Given the description of an element on the screen output the (x, y) to click on. 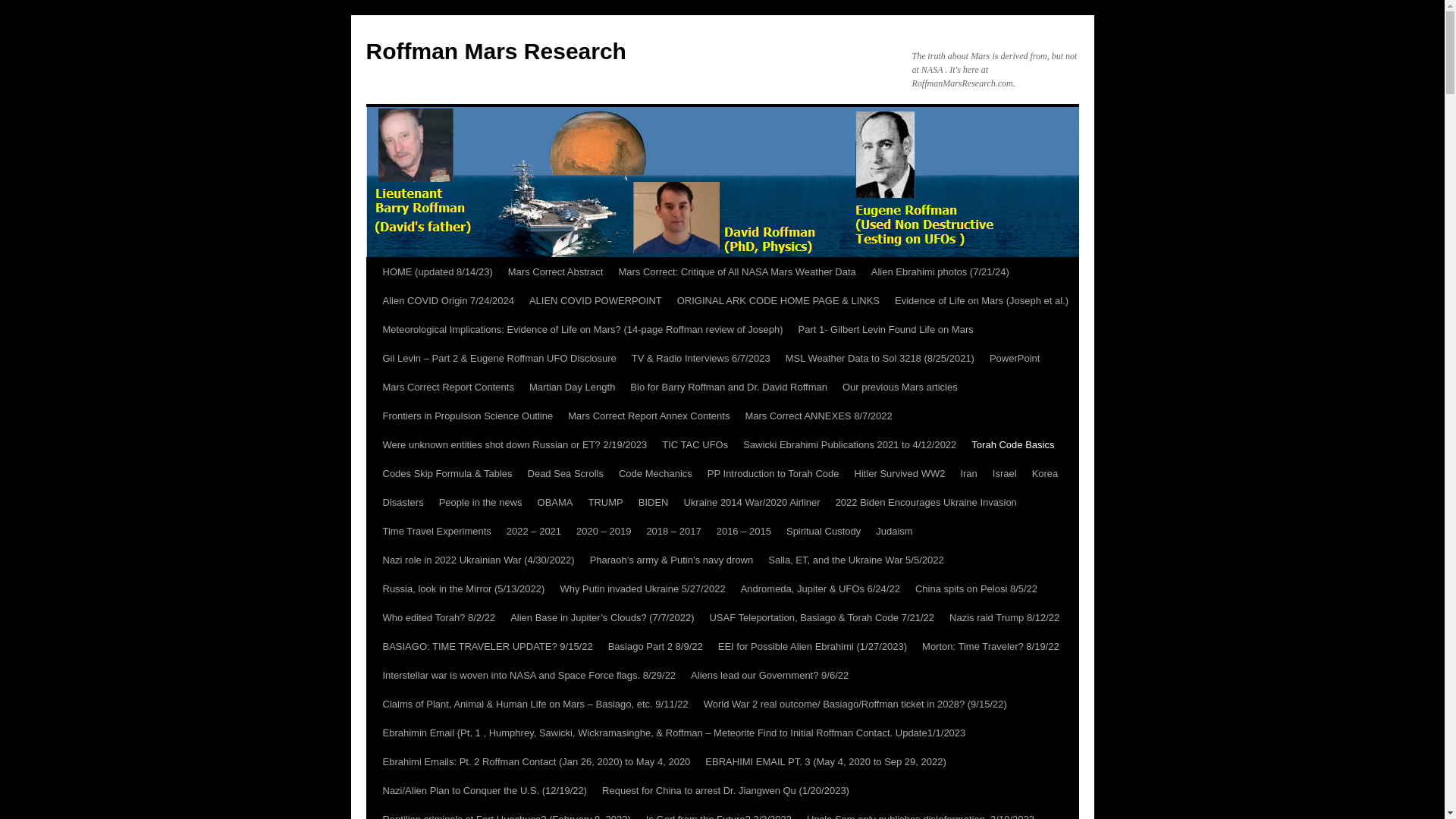
ALIEN COVID POWERPOINT (595, 300)
Mars Correct Report Contents (447, 387)
Our previous Mars articles (899, 387)
Bio for Barry Roffman and Dr. David Roffman (728, 387)
Part 1- Gilbert Levin Found Life on Mars (884, 329)
Mars Correct Abstract (555, 271)
PowerPoint (1013, 358)
Roffman Mars Research (495, 50)
Mars Correct: Critique of All NASA Mars Weather Data (736, 271)
Mars Correct Report Annex Contents (648, 416)
Frontiers in Propulsion Science Outline (467, 416)
Martian Day Length (572, 387)
Roffman Mars Research (495, 50)
